Given the description of an element on the screen output the (x, y) to click on. 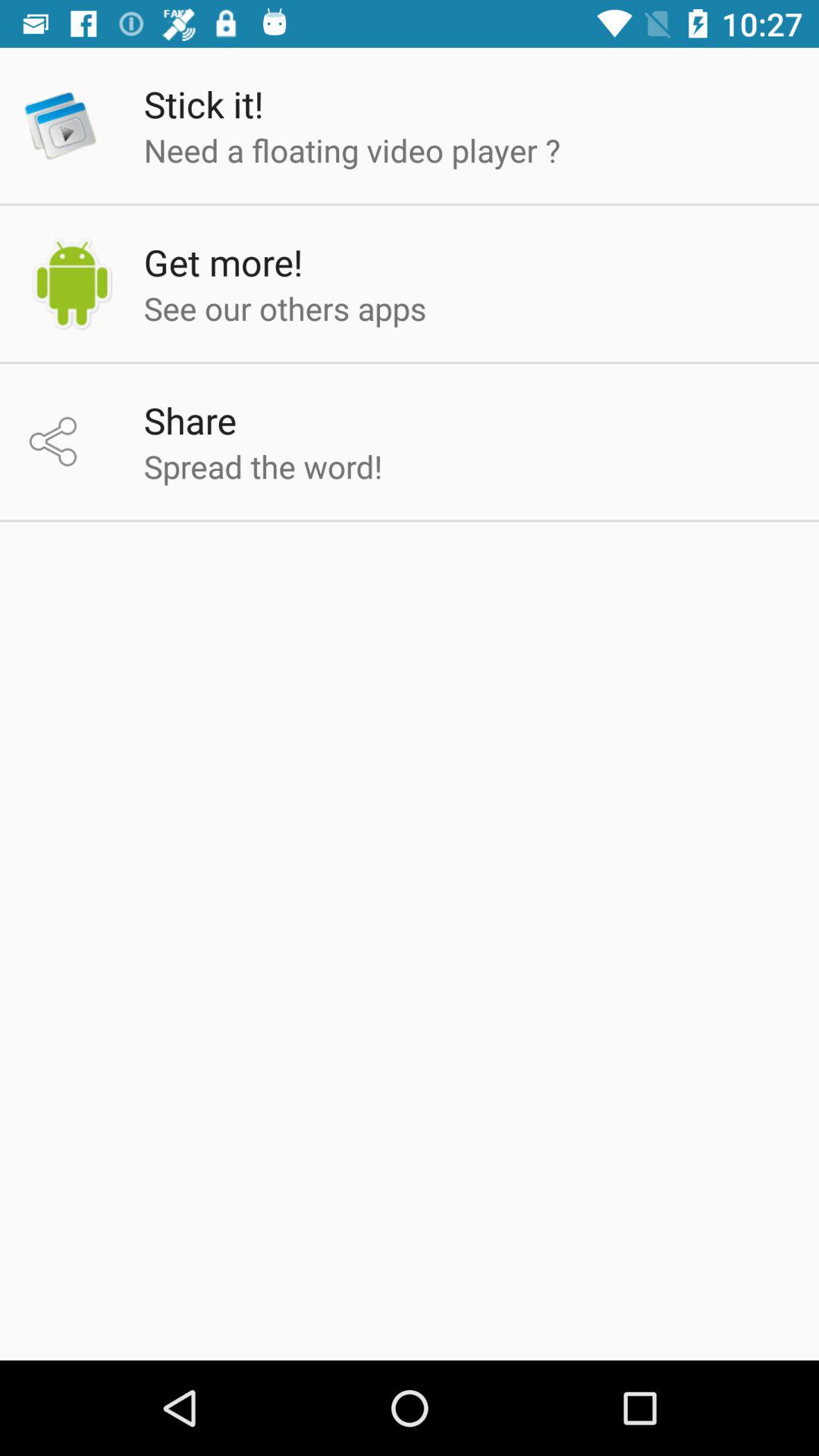
choose the need a floating icon (351, 149)
